Given the description of an element on the screen output the (x, y) to click on. 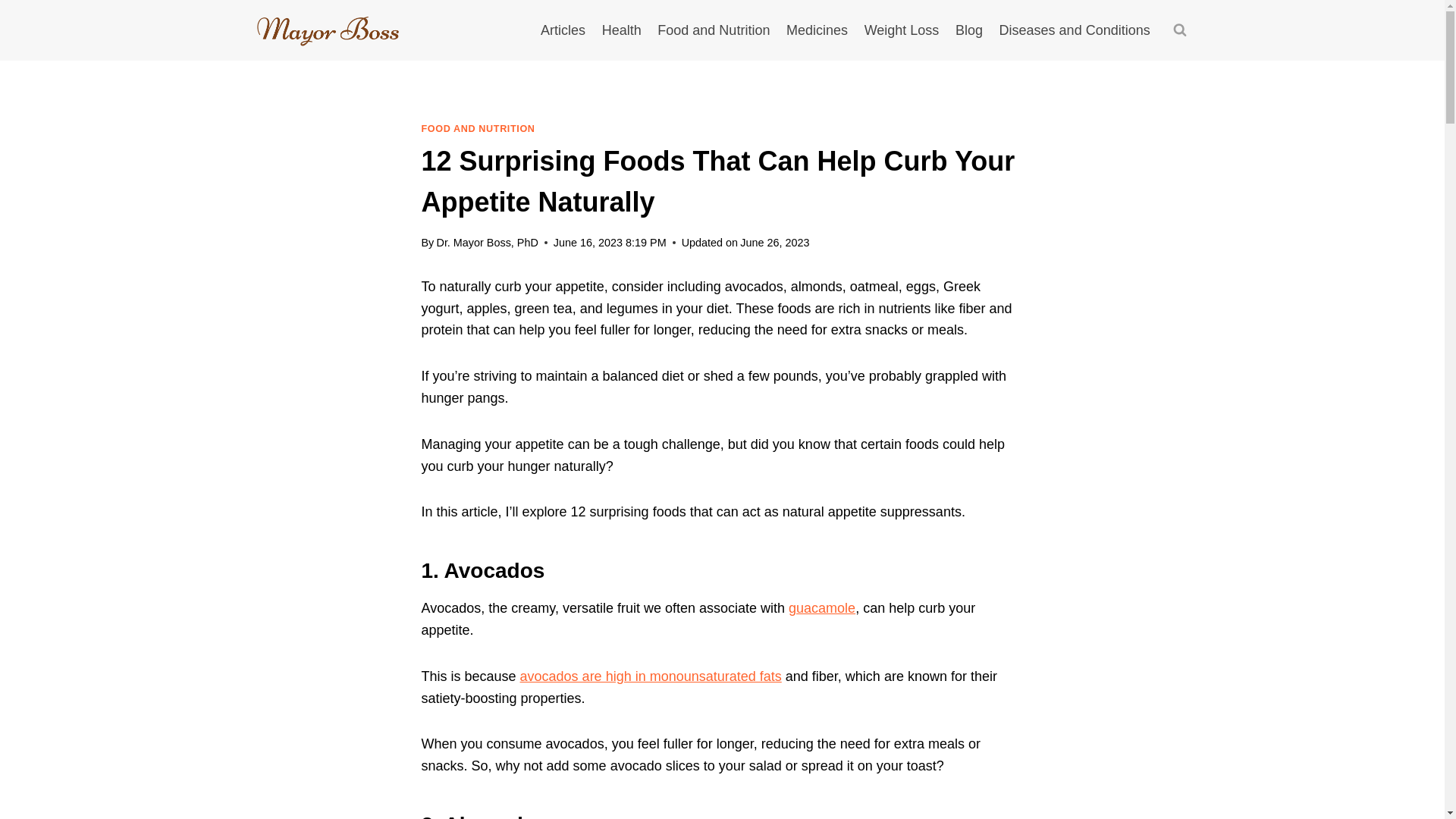
FOOD AND NUTRITION (478, 128)
Diseases and Conditions (1074, 30)
Weight Loss (901, 30)
guacamole (822, 607)
Health (621, 30)
Food and Nutrition (713, 30)
Dr. Mayor Boss, PhD (486, 242)
Articles (563, 30)
Blog (969, 30)
Medicines (816, 30)
avocados are high in monounsaturated fats (650, 676)
